Given the description of an element on the screen output the (x, y) to click on. 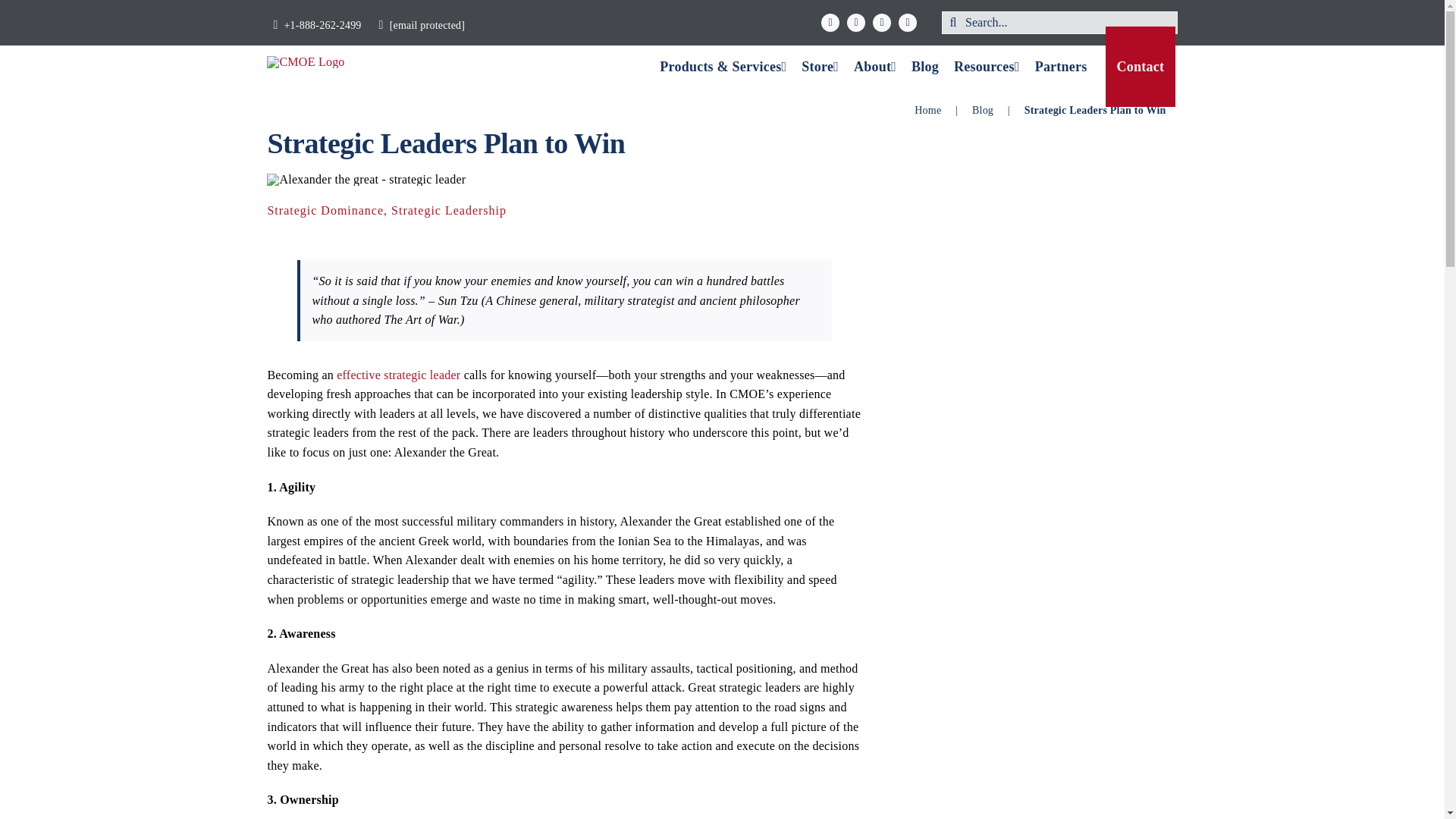
Facebook (830, 22)
YouTube (881, 22)
X (855, 22)
LinkedIn (907, 22)
